Given the description of an element on the screen output the (x, y) to click on. 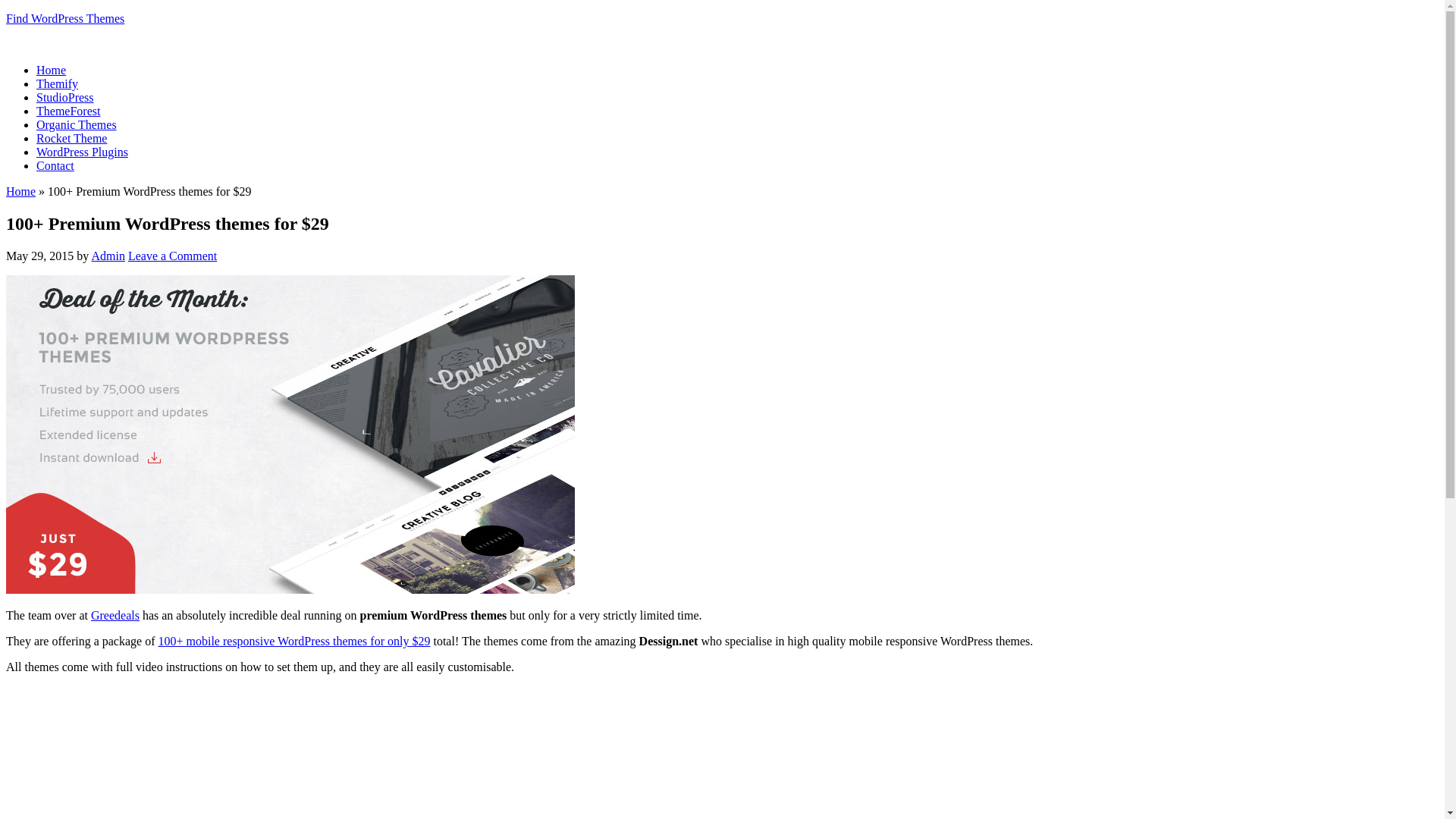
Home Element type: text (20, 191)
Admin Element type: text (107, 255)
Contact Element type: text (55, 165)
StudioPress Element type: text (65, 97)
Rocket Theme Element type: text (71, 137)
ThemeForest Element type: text (68, 110)
Themify Element type: text (57, 83)
Greedeals Element type: text (115, 614)
WordPress Plugins Element type: text (82, 151)
Find WordPress Themes Element type: text (65, 18)
Leave a Comment Element type: text (172, 255)
Home Element type: text (50, 69)
Organic Themes Element type: text (76, 124)
100+ mobile responsive WordPress themes for only $29 Element type: text (293, 640)
